Given the description of an element on the screen output the (x, y) to click on. 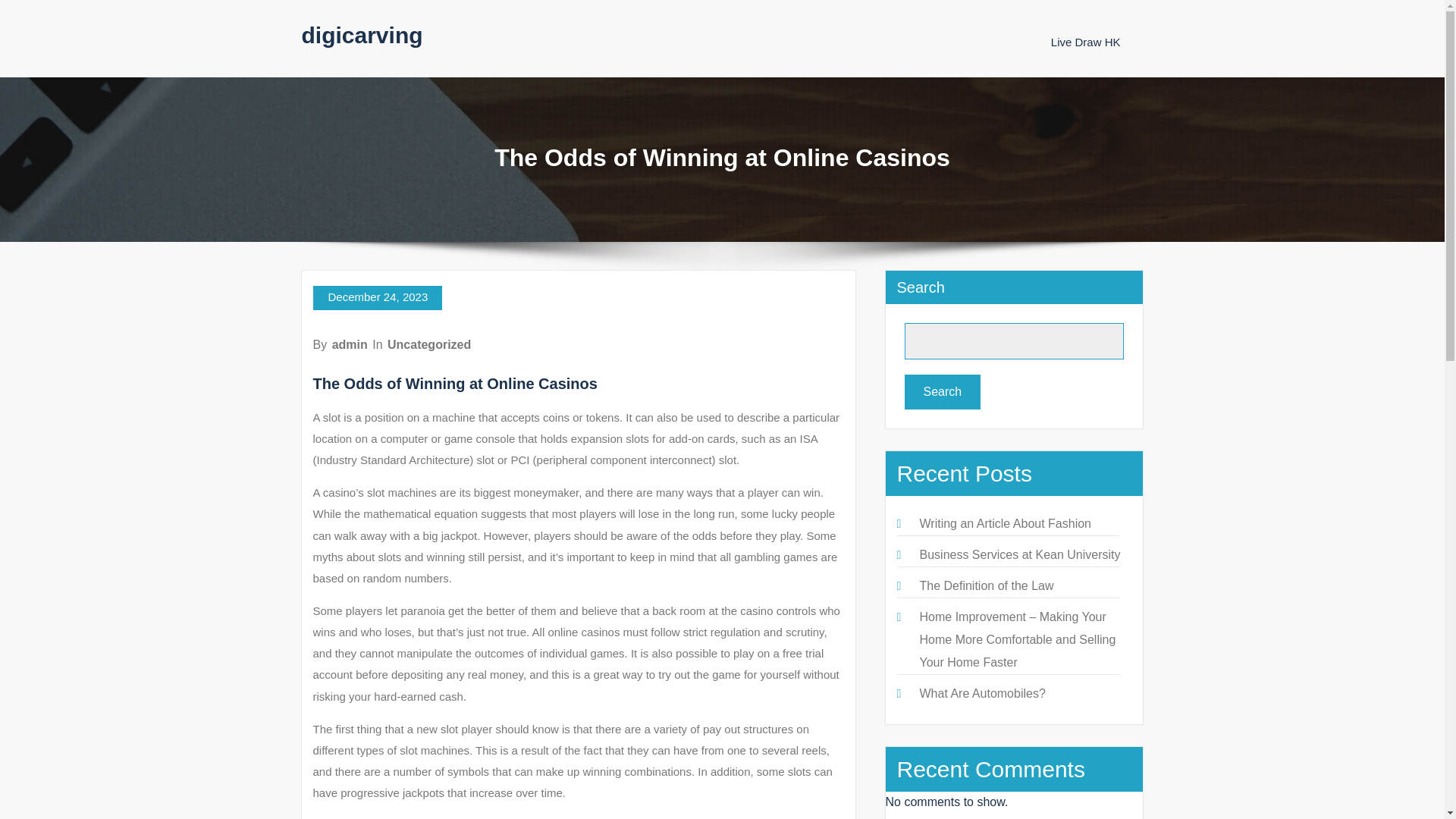
The Definition of the Law (985, 585)
Business Services at Kean University (1018, 554)
Uncategorized (428, 344)
admin (349, 344)
Search (941, 391)
Writing an Article About Fashion (1004, 522)
Live Draw HK (1086, 41)
digicarving (362, 34)
December 24, 2023 (377, 297)
What Are Automobiles? (981, 693)
